Given the description of an element on the screen output the (x, y) to click on. 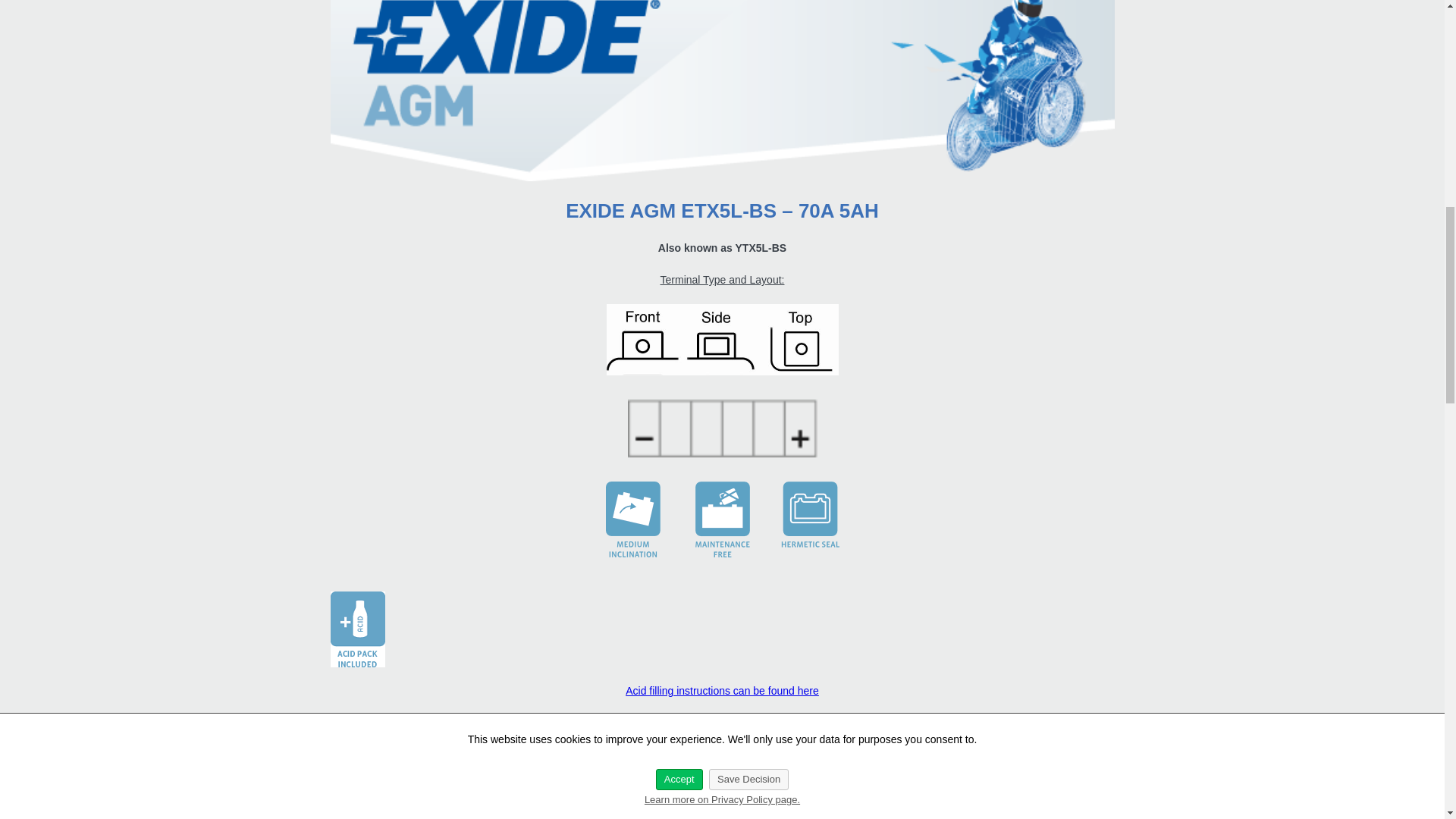
Acid Filling Instructions (722, 690)
